Given the description of an element on the screen output the (x, y) to click on. 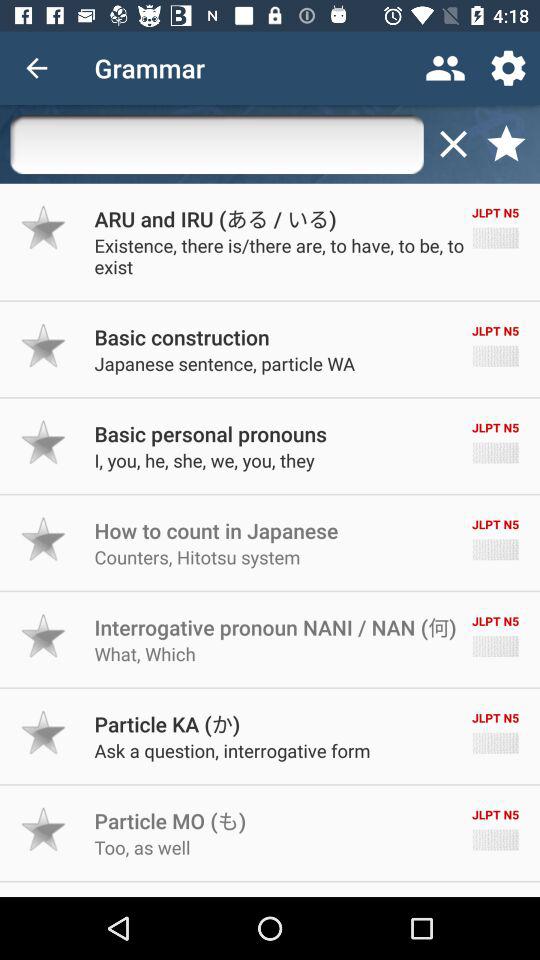
mark as favorite (44, 227)
